Given the description of an element on the screen output the (x, y) to click on. 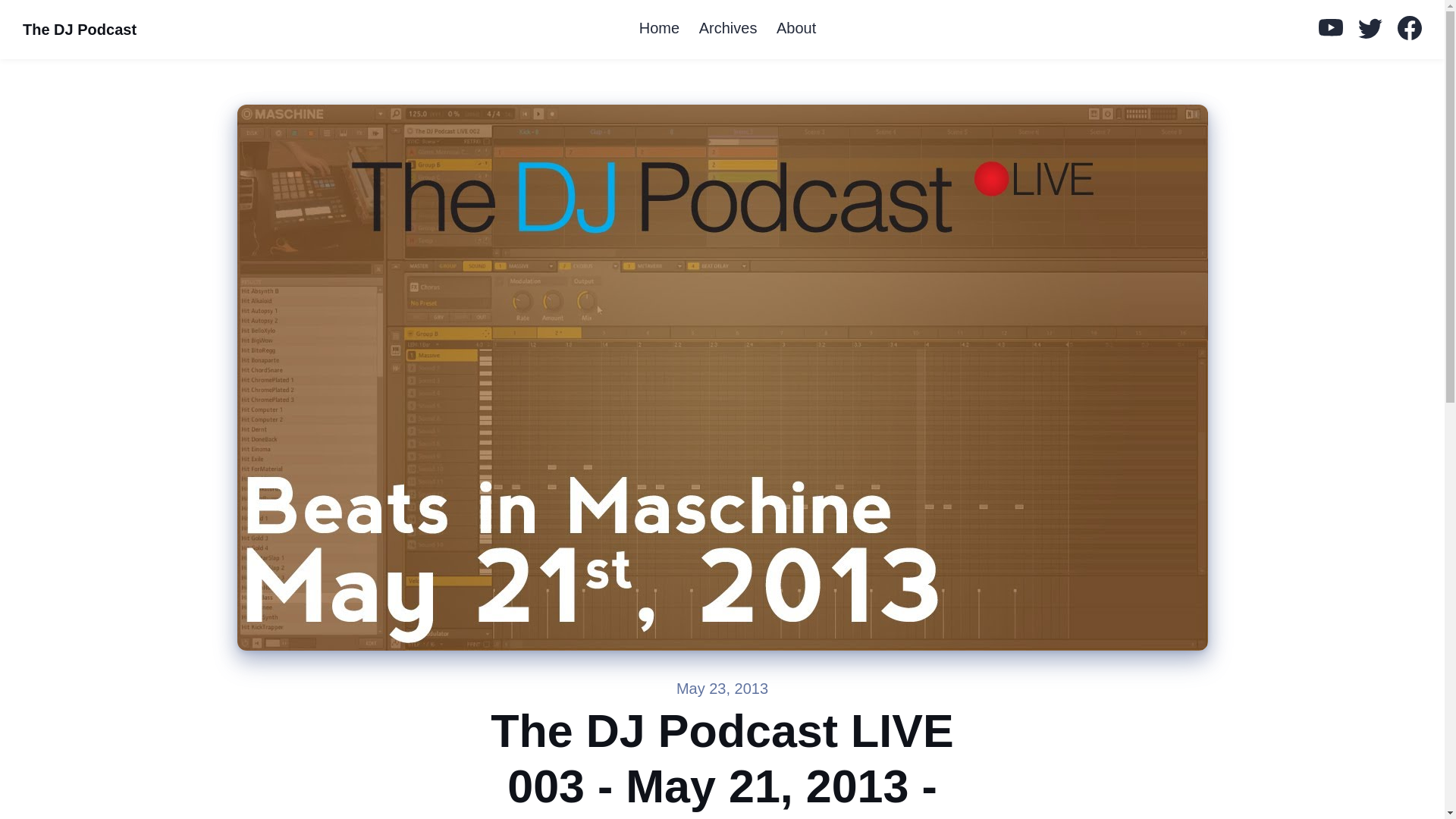
Archives (728, 29)
The DJ Podcast (79, 30)
Home (659, 29)
About (796, 29)
